Given the description of an element on the screen output the (x, y) to click on. 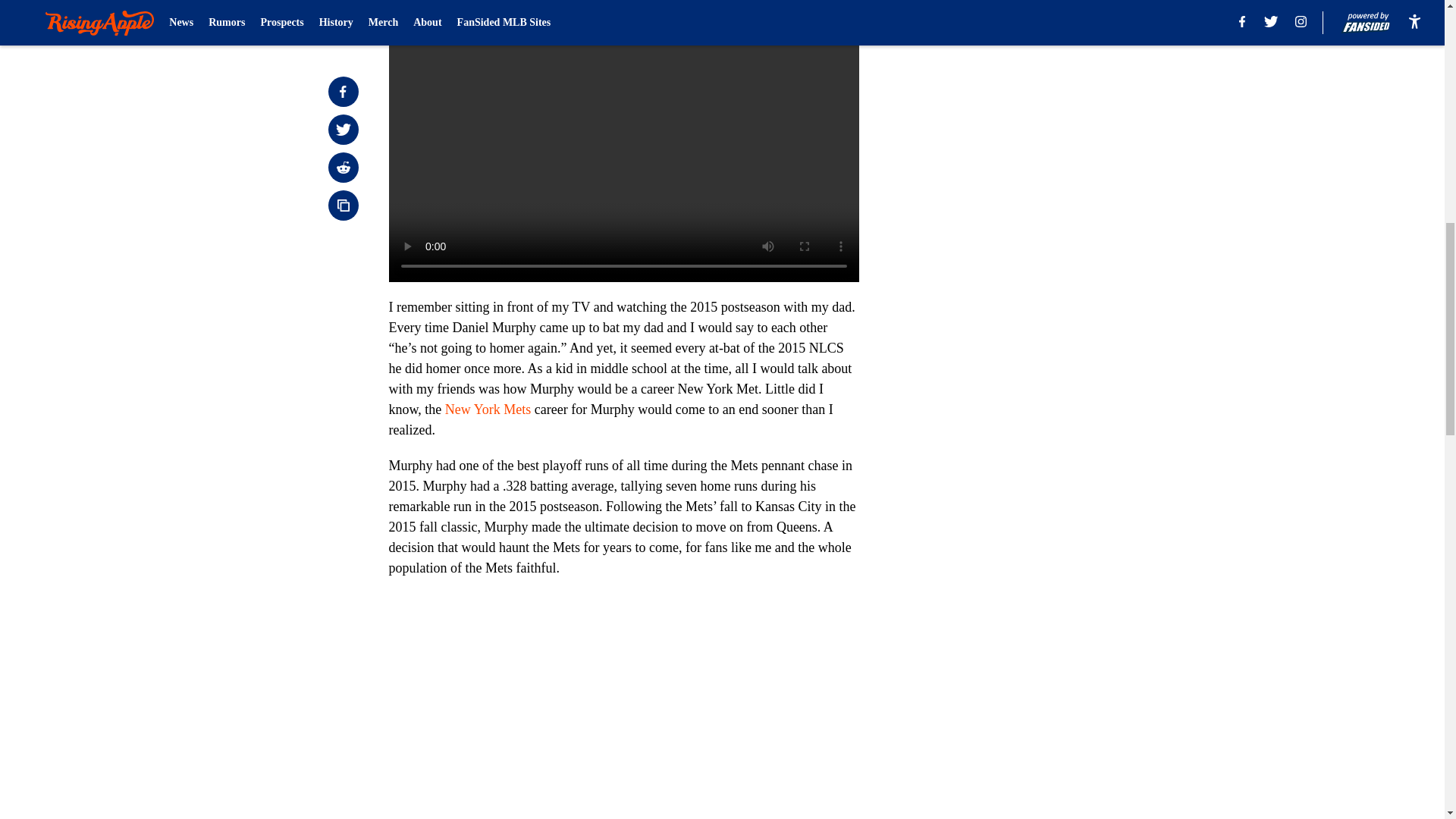
3rd party ad content (1047, 113)
New York Mets (488, 409)
3rd party ad content (1047, 332)
